Given the description of an element on the screen output the (x, y) to click on. 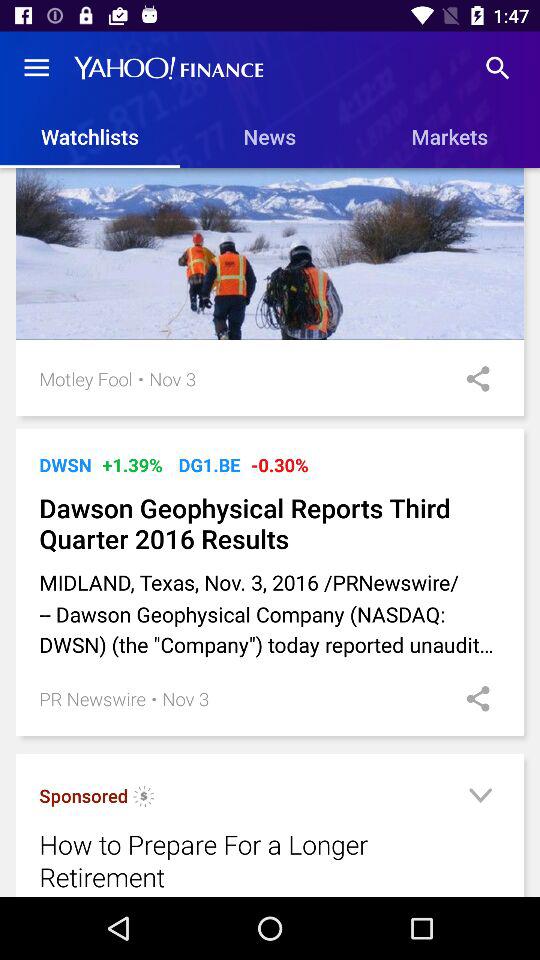
open item above watchlists item (36, 68)
